Given the description of an element on the screen output the (x, y) to click on. 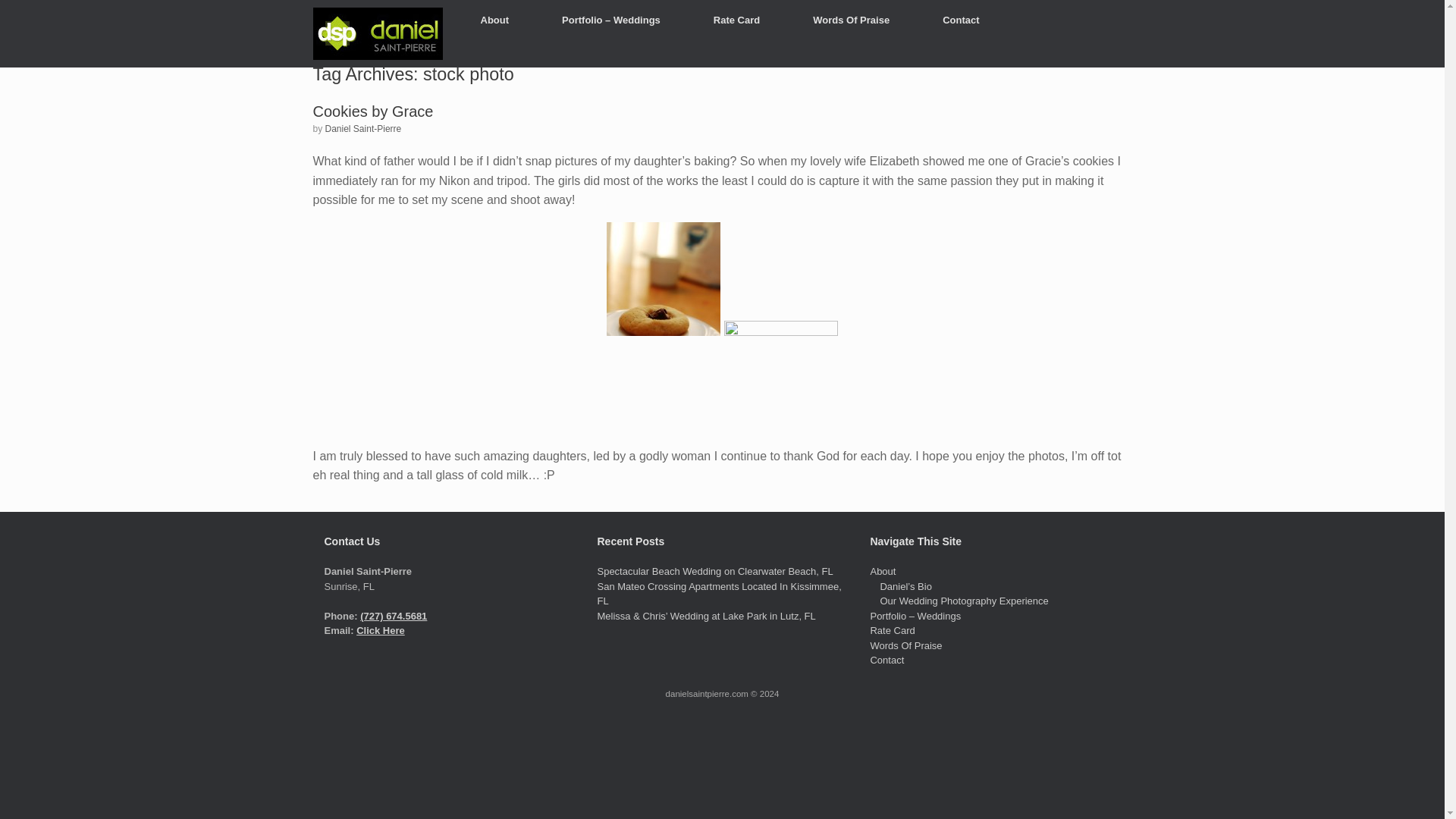
San Mateo Crossing Apartments Located In Kissimmee, FL (718, 593)
Cookie by Grace St.Pierre, Wesley Chapel, FL - December 2010 (780, 377)
Daniel Saint-Pierre (362, 127)
Permalink to Cookies by Grace (372, 111)
Spectacular Beach Wedding on Clearwater Beach, FL (714, 571)
Contact (886, 659)
Click Here (380, 630)
Words Of Praise (850, 20)
Words Of Praise (905, 645)
Rate Card (891, 630)
Cookies by Grace (372, 111)
Our Wedding Photography Experience (963, 600)
View all posts by Daniel Saint-Pierre (362, 127)
About (493, 20)
Rate Card (736, 20)
